Given the description of an element on the screen output the (x, y) to click on. 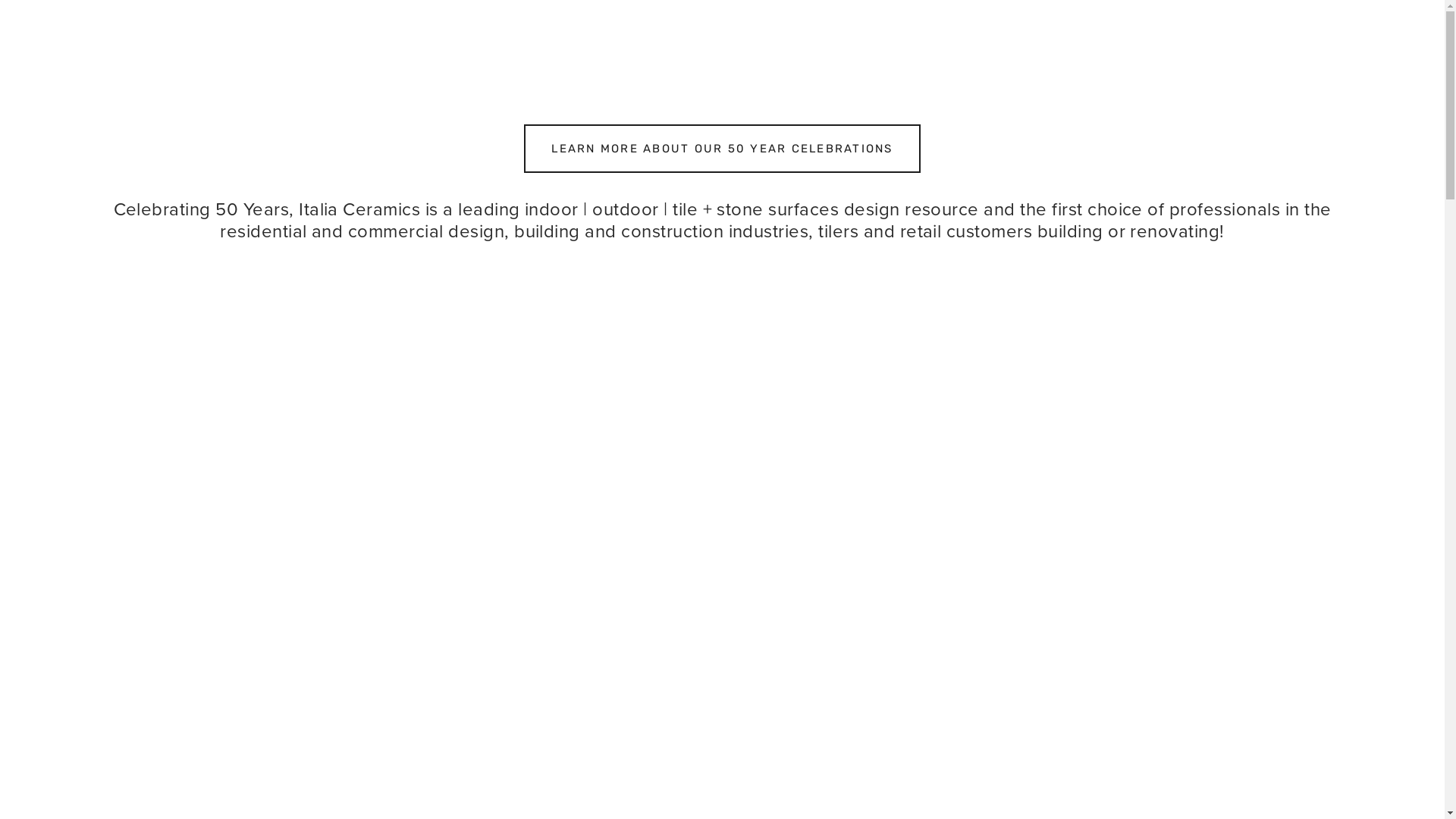
LEARN MORE ABOUT OUR 50 YEAR CELEBRATIONS Element type: text (721, 148)
